Given the description of an element on the screen output the (x, y) to click on. 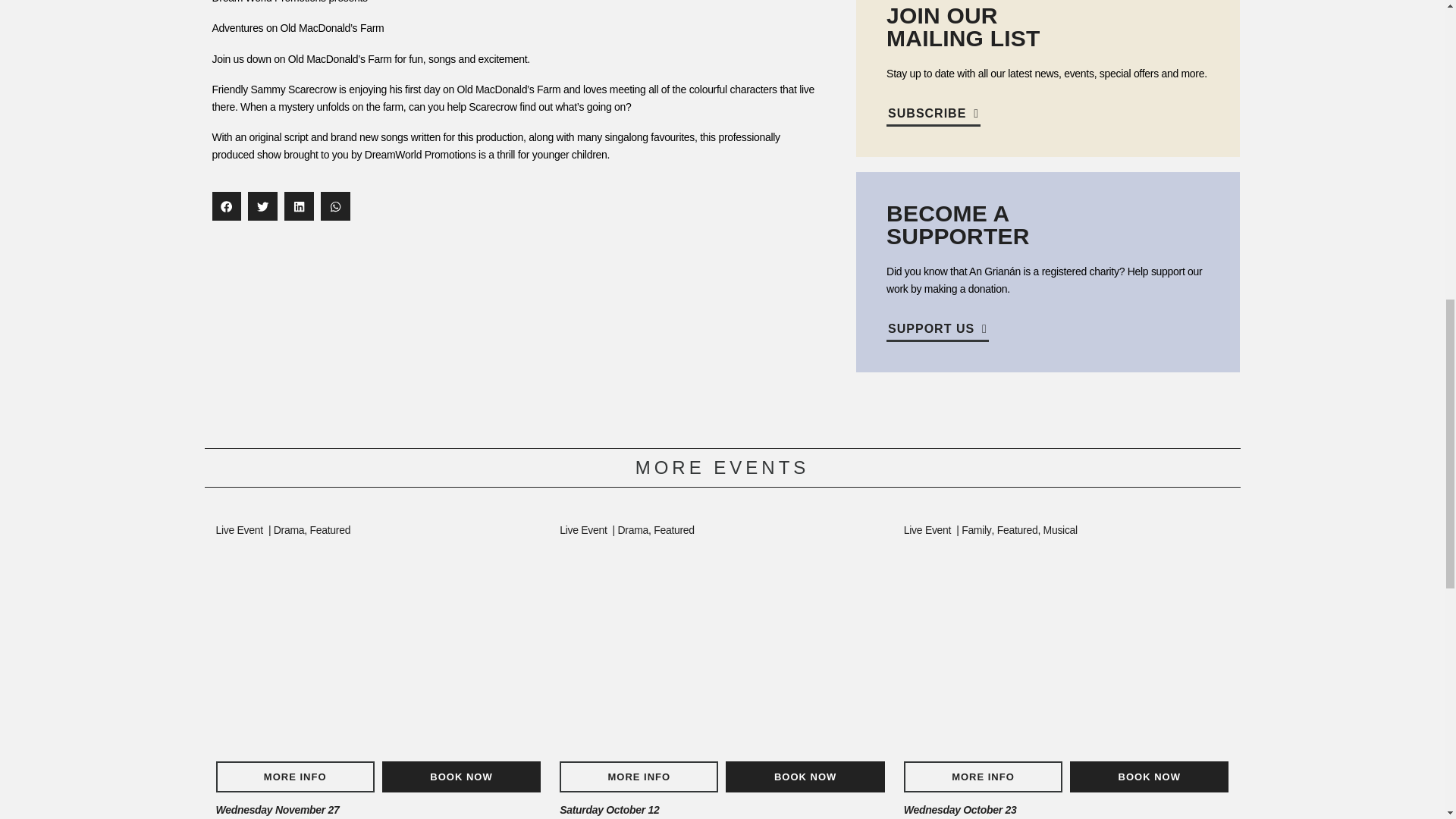
A Christmas Carol (377, 647)
SUPPORT US (937, 332)
grove.beauty.1000 (1066, 647)
SUBSCRIBE (932, 116)
BOOK NOW (460, 776)
BOOK NOW (1149, 776)
MORE INFO (294, 776)
MORE INFO (638, 776)
MORE INFO (983, 776)
